Given the description of an element on the screen output the (x, y) to click on. 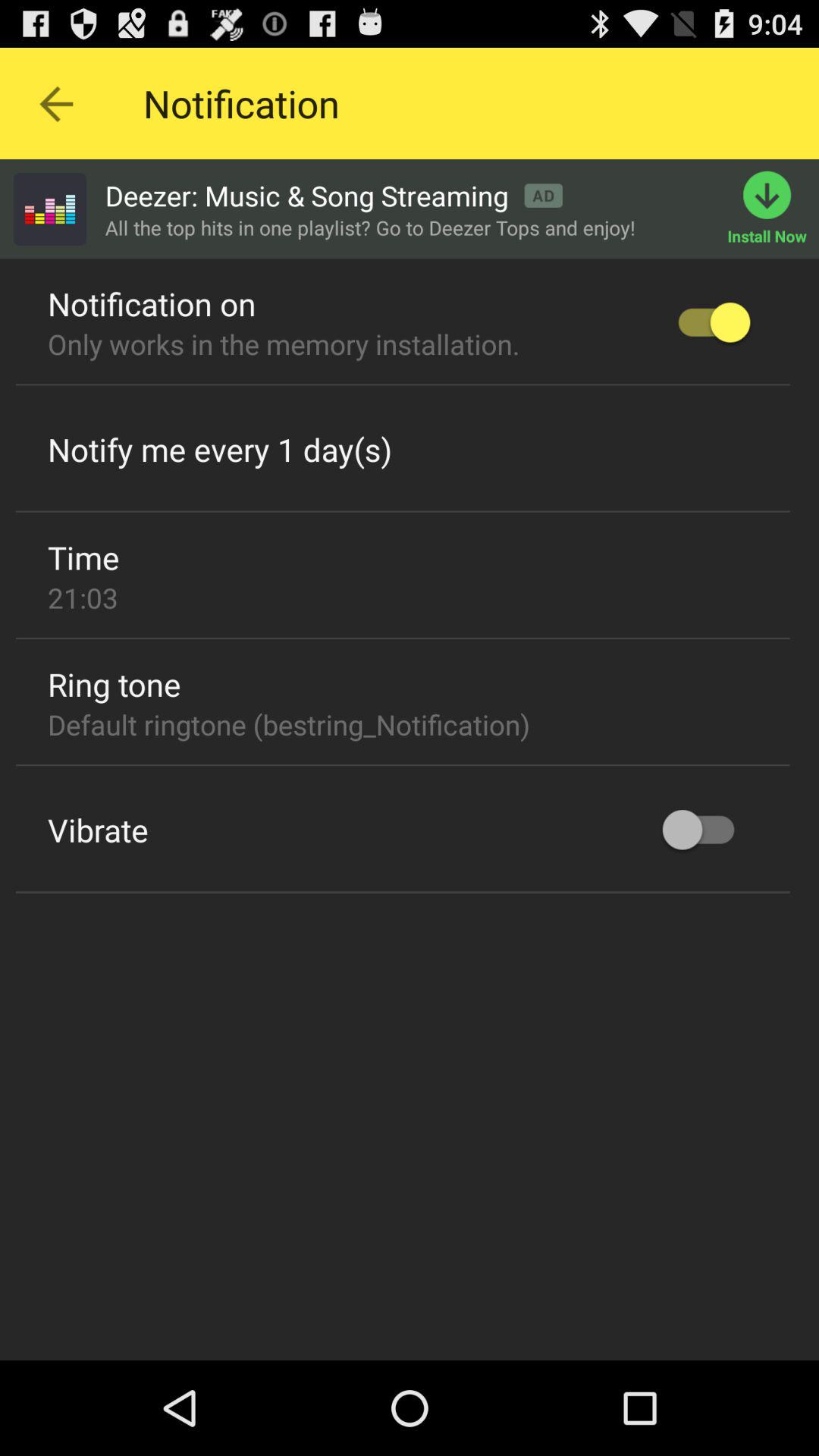
click the item below notification on icon (283, 343)
